Given the description of an element on the screen output the (x, y) to click on. 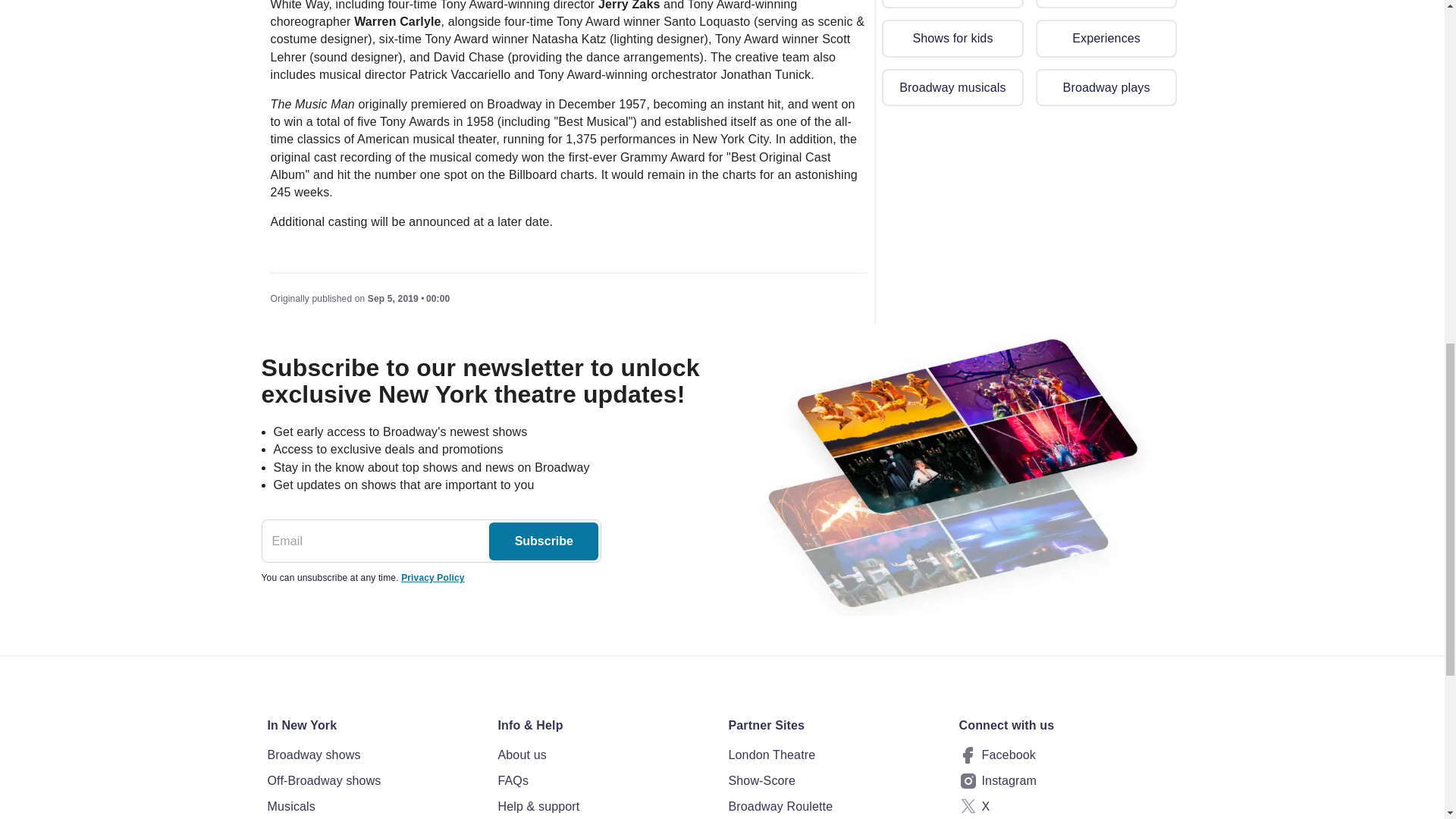
Musicals (375, 806)
Off-Broadway shows (375, 781)
Broadway shows (375, 754)
